Given the description of an element on the screen output the (x, y) to click on. 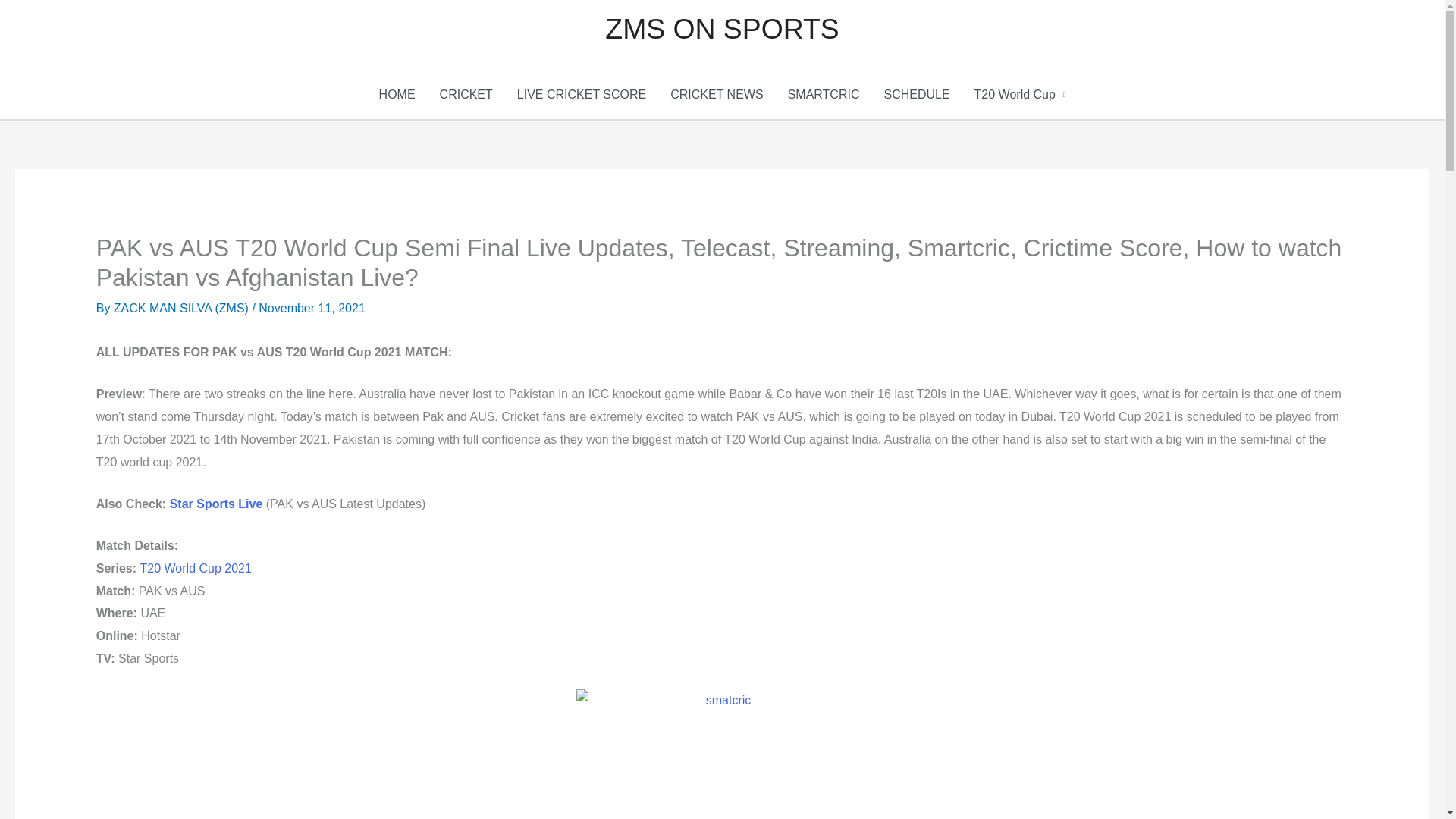
HOME (397, 94)
SCHEDULE (915, 94)
Star Sports Live (216, 503)
CRICKET (466, 94)
LIVE CRICKET SCORE (581, 94)
SMARTCRIC (824, 94)
T20 World Cup (1020, 94)
ZMS ON SPORTS (721, 29)
CRICKET NEWS (716, 94)
T20 World Cup 2021 (195, 567)
